Given the description of an element on the screen output the (x, y) to click on. 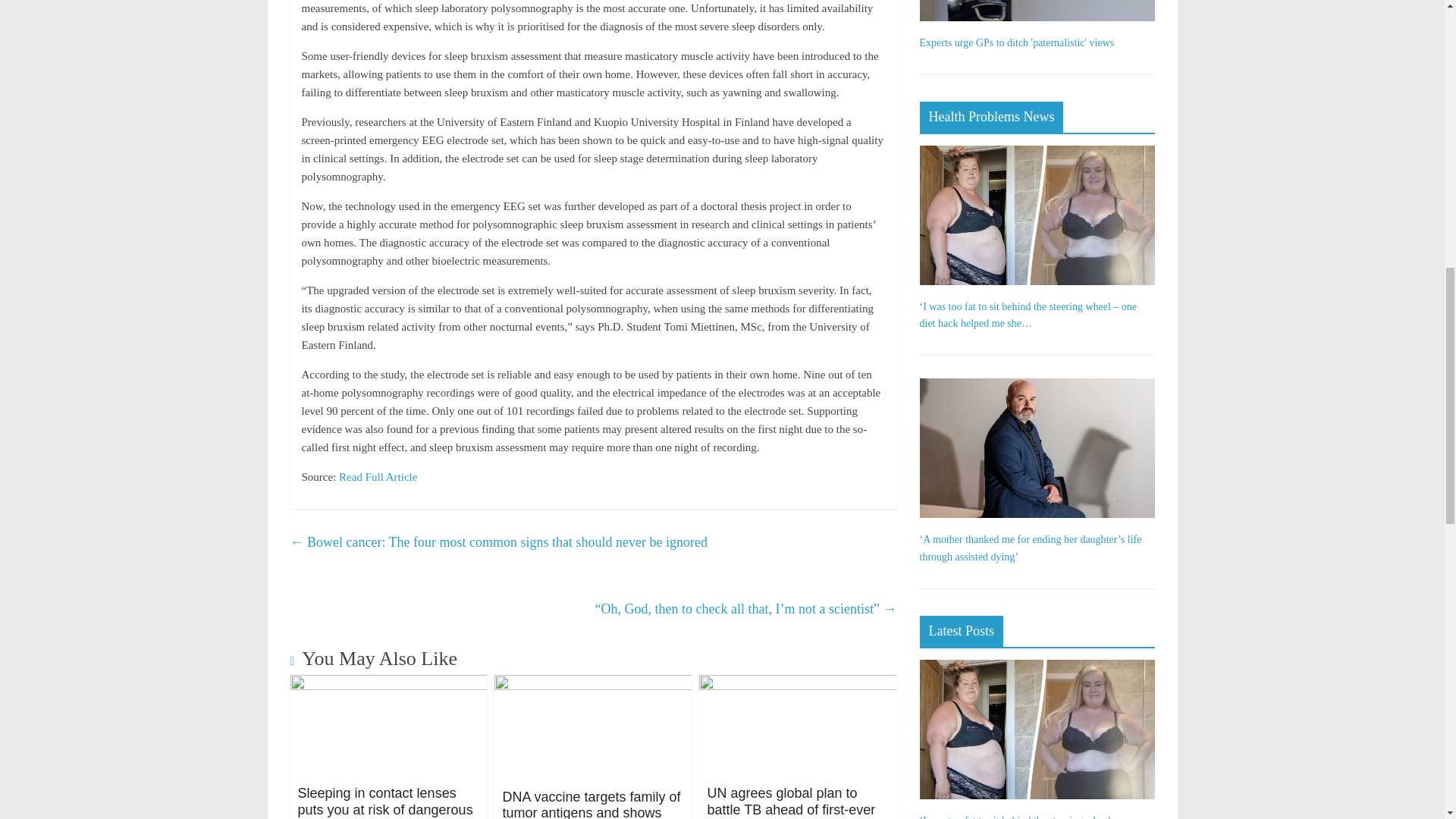
Experts urge GPs to ditch 'paternalistic' views (1015, 42)
